Given the description of an element on the screen output the (x, y) to click on. 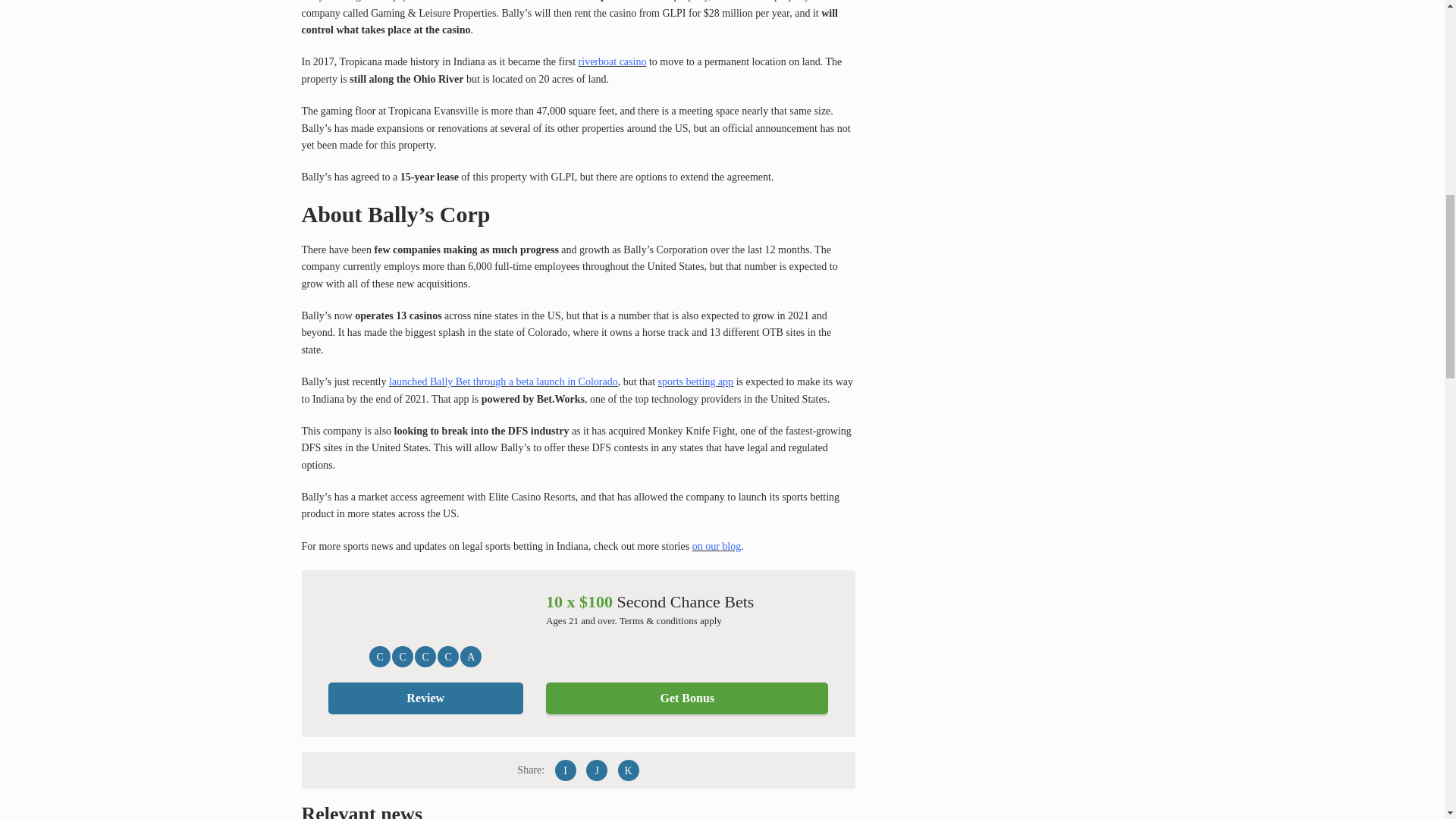
Share on Twitter (596, 770)
Share on Facebook (565, 770)
Share by email (628, 770)
